Given the description of an element on the screen output the (x, y) to click on. 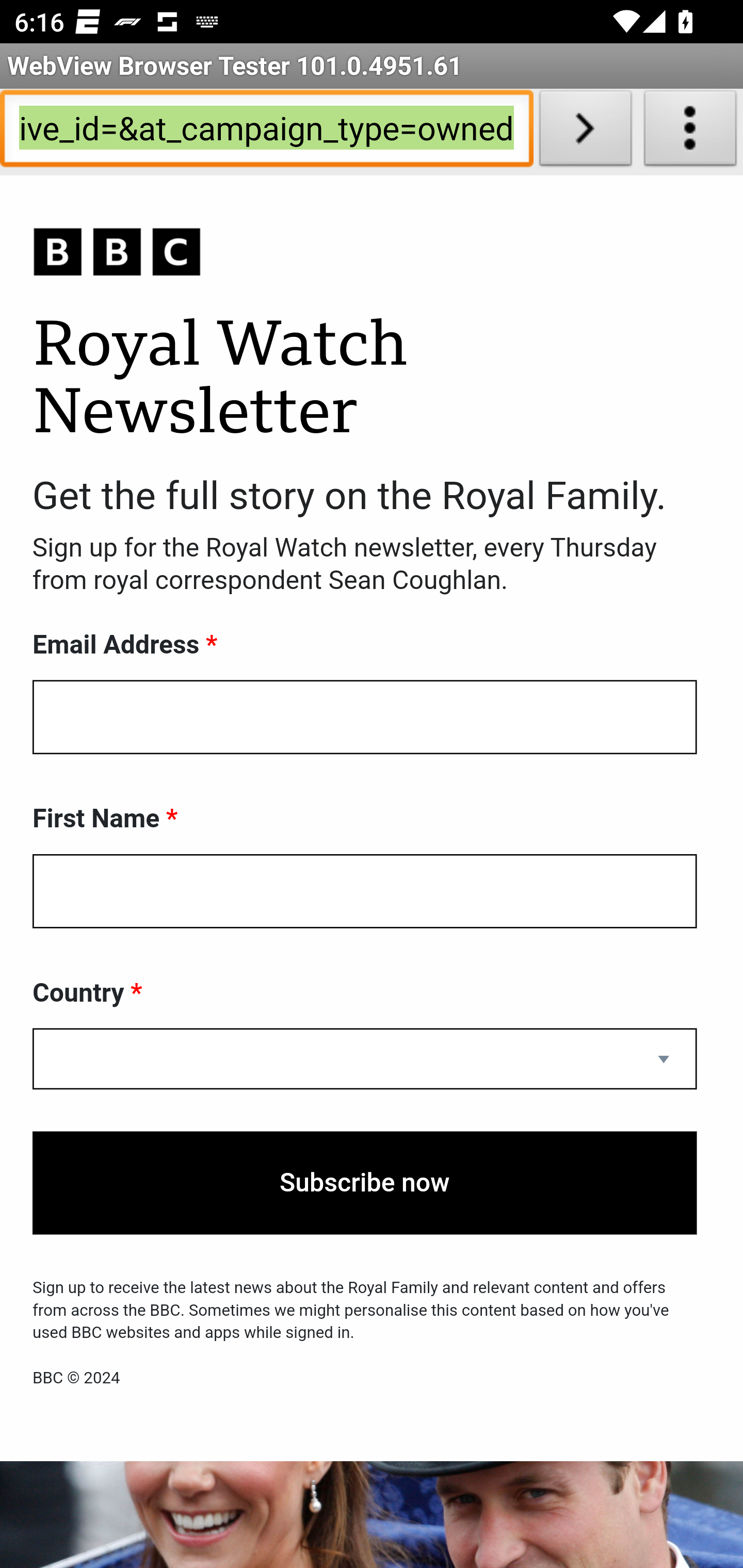
Load URL (585, 132)
About WebView (690, 132)
BBC (364, 253)
Subscribe now (364, 1182)
